Given the description of an element on the screen output the (x, y) to click on. 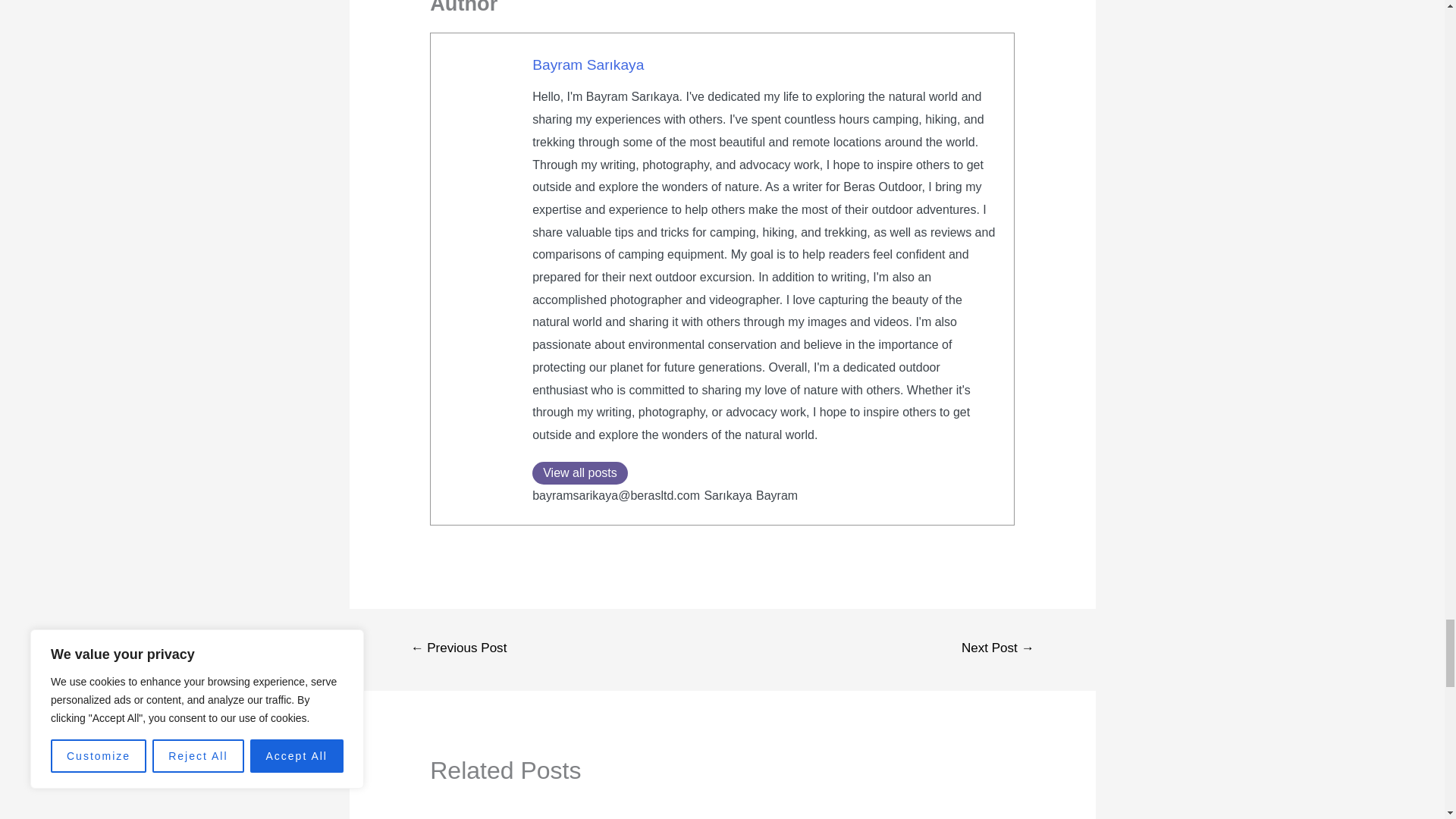
View all posts (579, 472)
View all posts (579, 472)
